Given the description of an element on the screen output the (x, y) to click on. 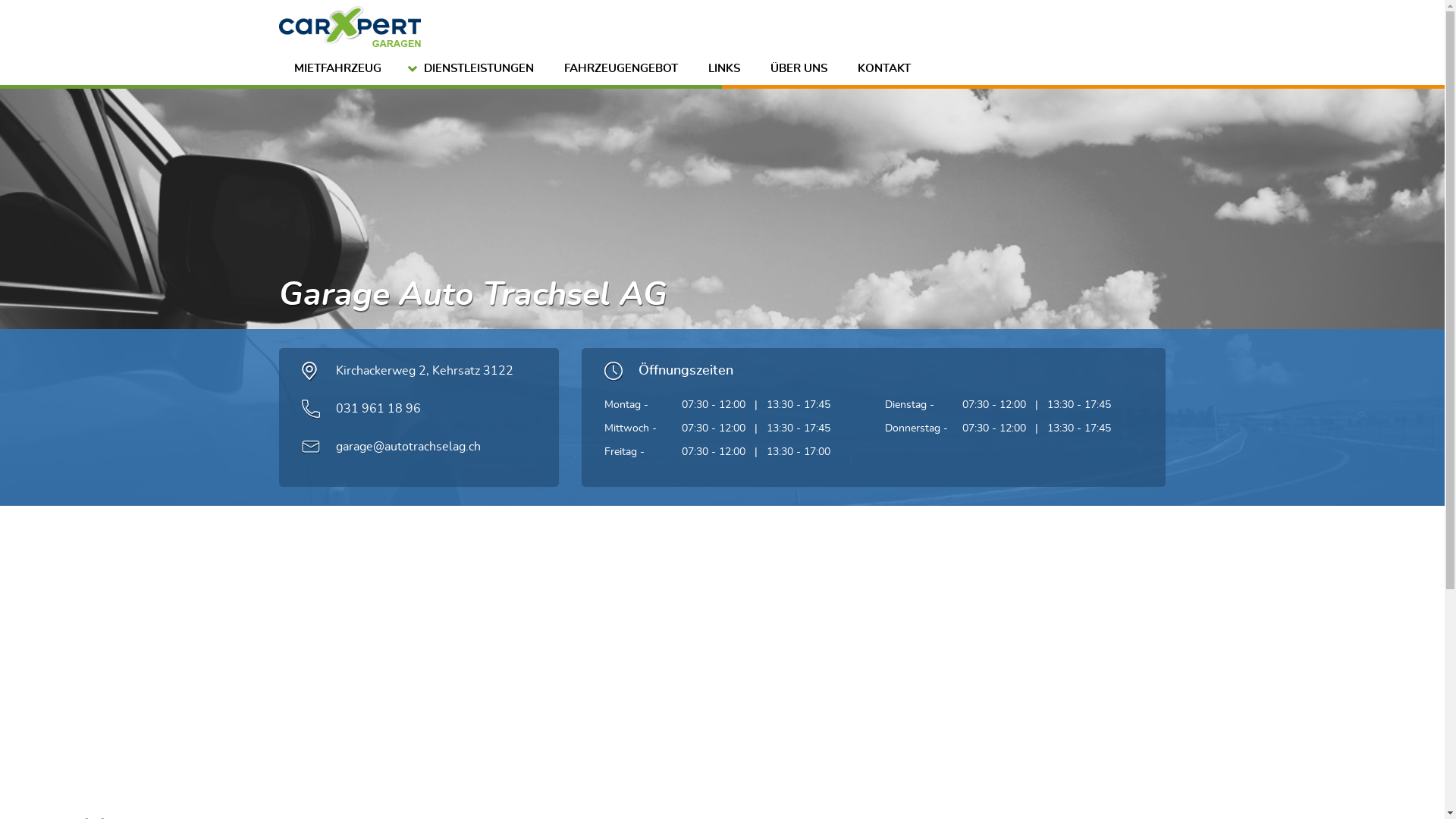
garage@autotrachselag.ch Element type: text (407, 446)
FAHRZEUGENGEBOT Element type: text (621, 69)
DIENSTLEISTUNGEN Element type: text (471, 69)
MIETFAHRZEUG Element type: text (337, 69)
KONTAKT Element type: text (883, 69)
LINKS Element type: text (724, 69)
